Given the description of an element on the screen output the (x, y) to click on. 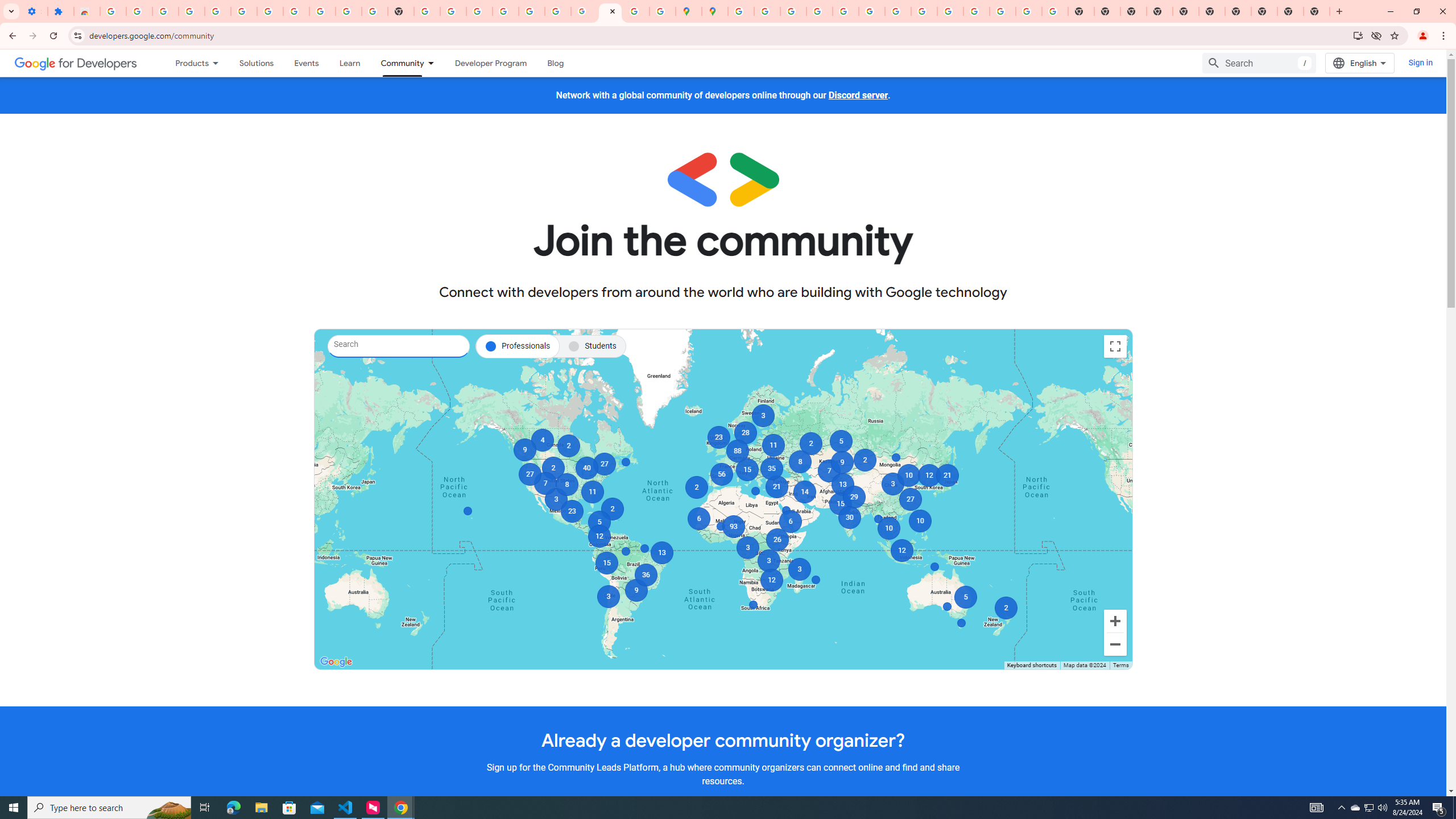
12 (599, 535)
Safety in Our Products - Google Safety Center (663, 11)
Keyboard shortcuts (1031, 665)
Events (306, 62)
Developer Program (490, 62)
Settings - On startup (34, 11)
Browse Chrome as a guest - Computer - Google Chrome Help (923, 11)
8 (566, 484)
